Given the description of an element on the screen output the (x, y) to click on. 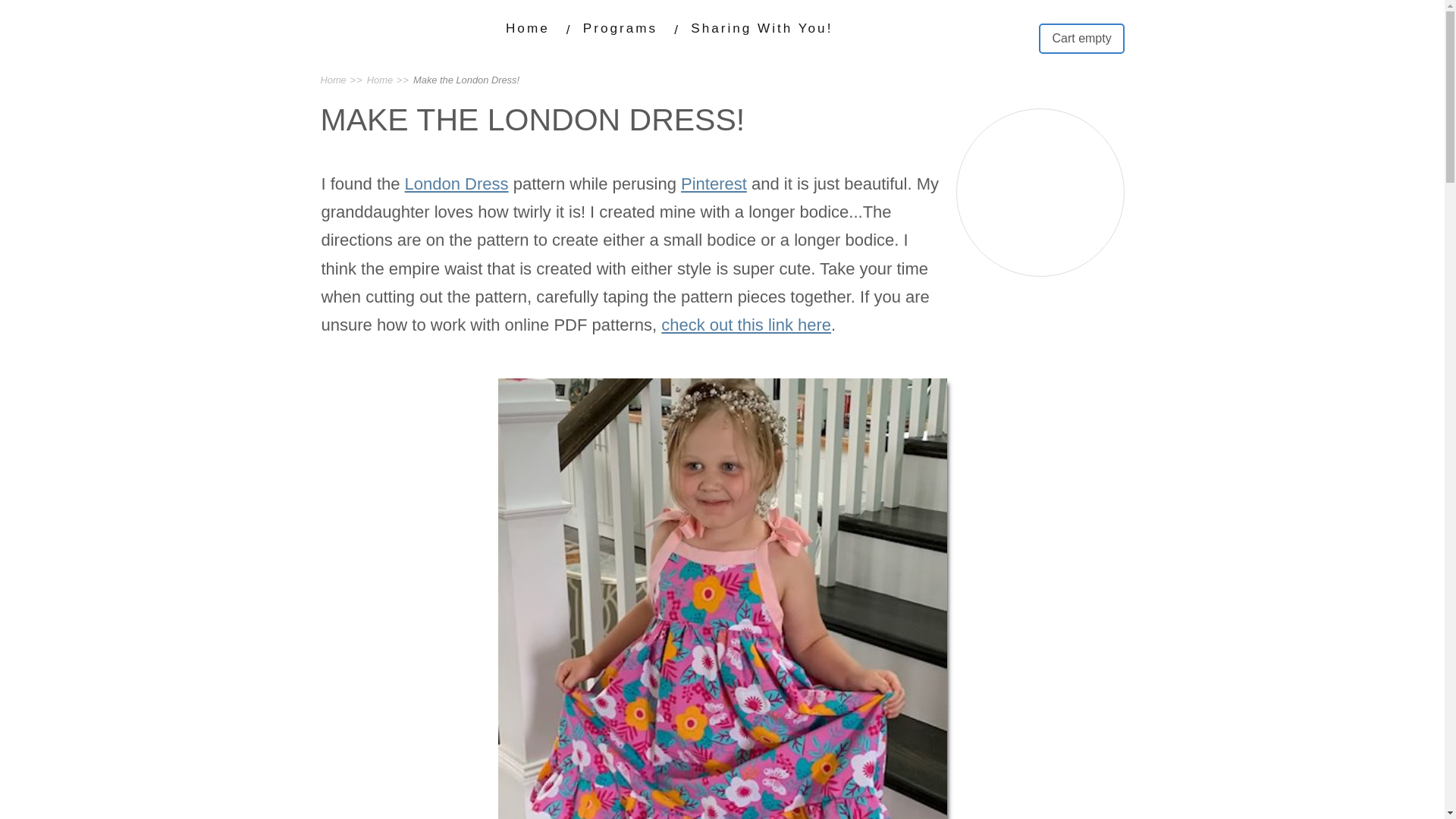
Home (527, 27)
Pinterest (713, 183)
Programs (619, 27)
check out this link here (746, 324)
London Dress (456, 183)
Cart empty (1081, 38)
Sharing With You! (761, 27)
